Given the description of an element on the screen output the (x, y) to click on. 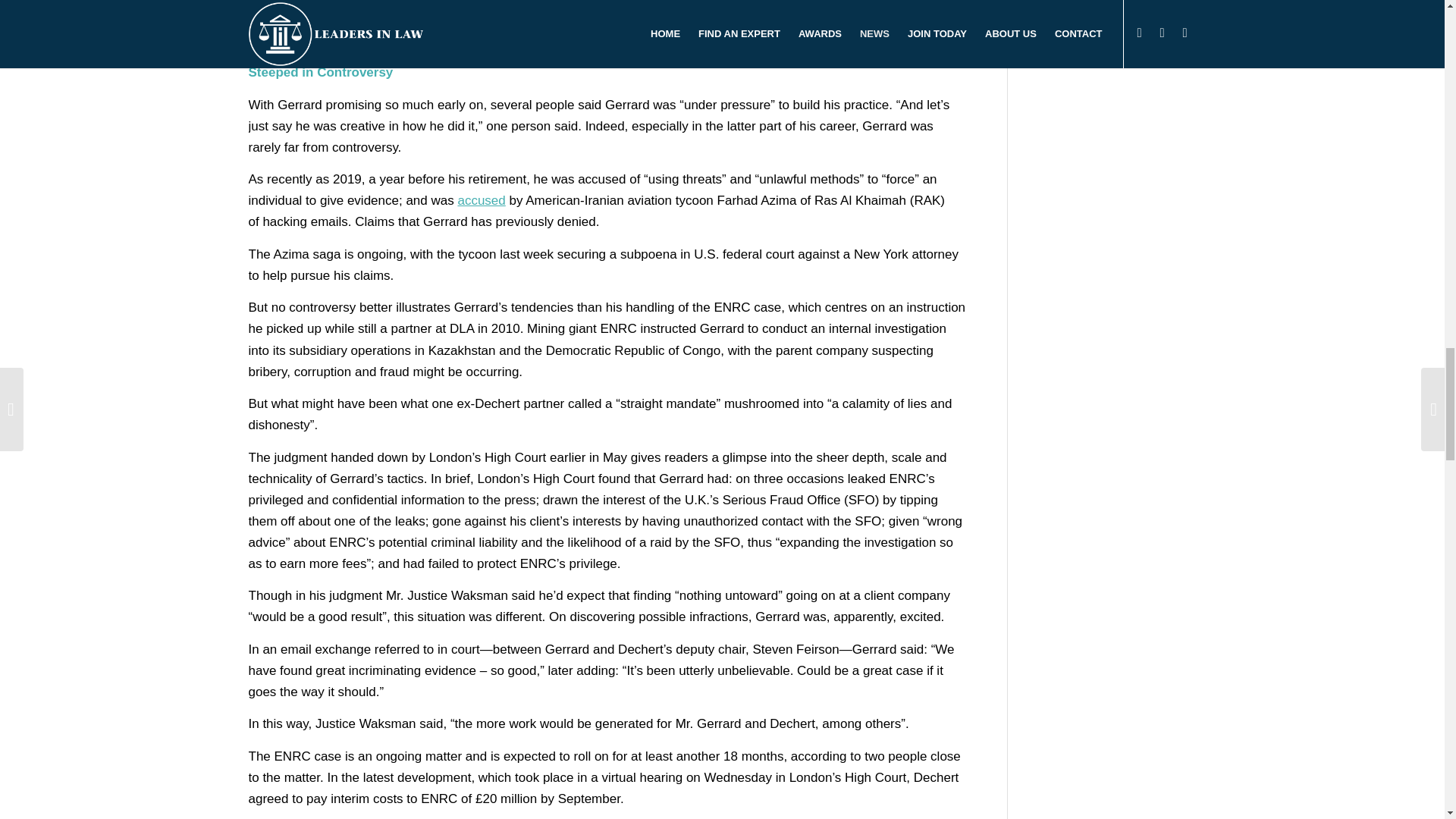
accused (481, 200)
